Given the description of an element on the screen output the (x, y) to click on. 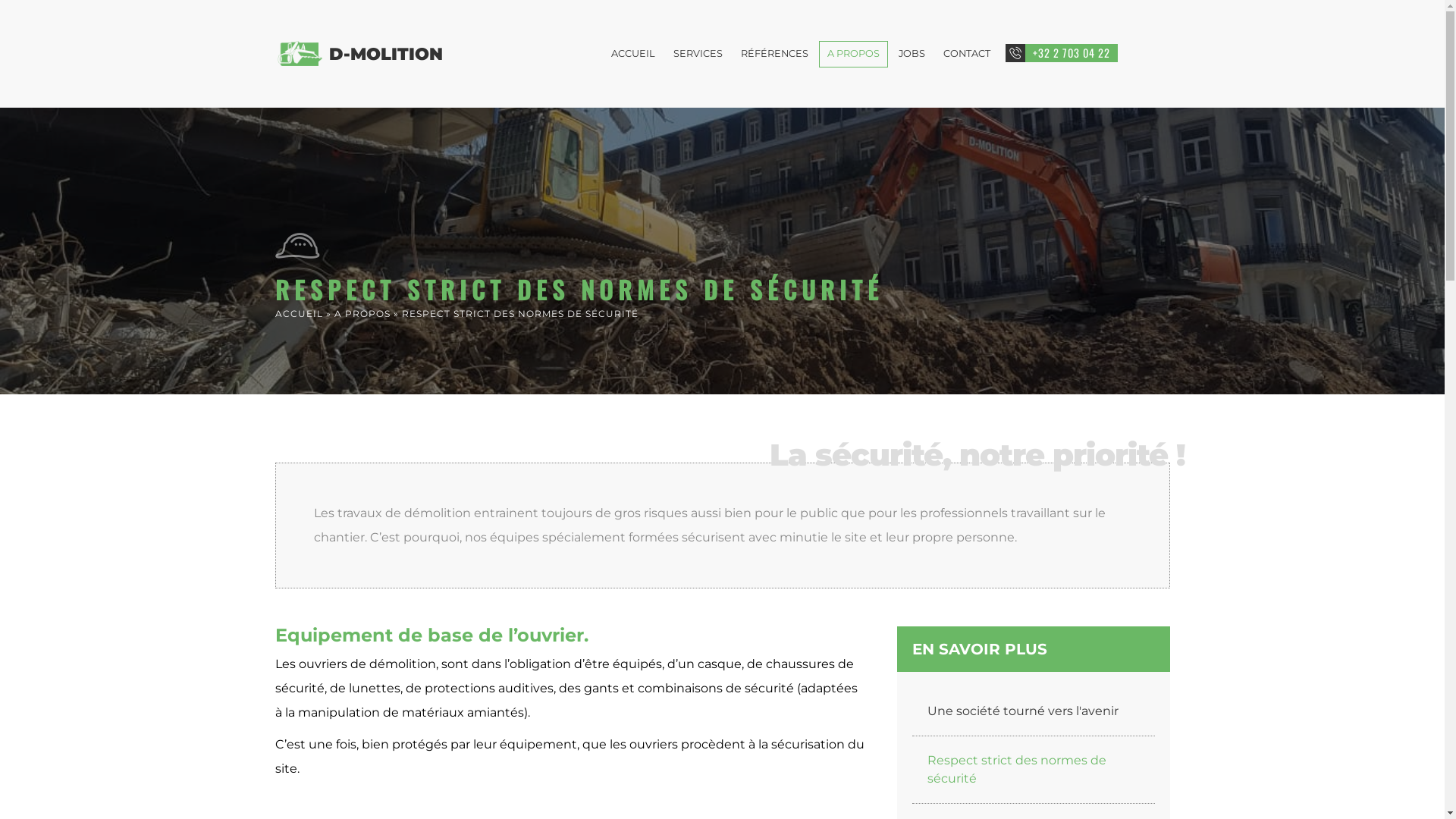
CONTACT Element type: text (966, 53)
JOBS Element type: text (910, 53)
A PROPOS Element type: text (361, 313)
D-MOLITION Element type: text (385, 53)
SERVICES Element type: text (697, 53)
Aller au contenu principal Element type: text (691, 1)
ACCUEIL Element type: text (298, 313)
A PROPOS Element type: text (853, 53)
+32 2 703 04 22 Element type: text (1061, 52)
ACCUEIL Element type: text (632, 53)
